Given the description of an element on the screen output the (x, y) to click on. 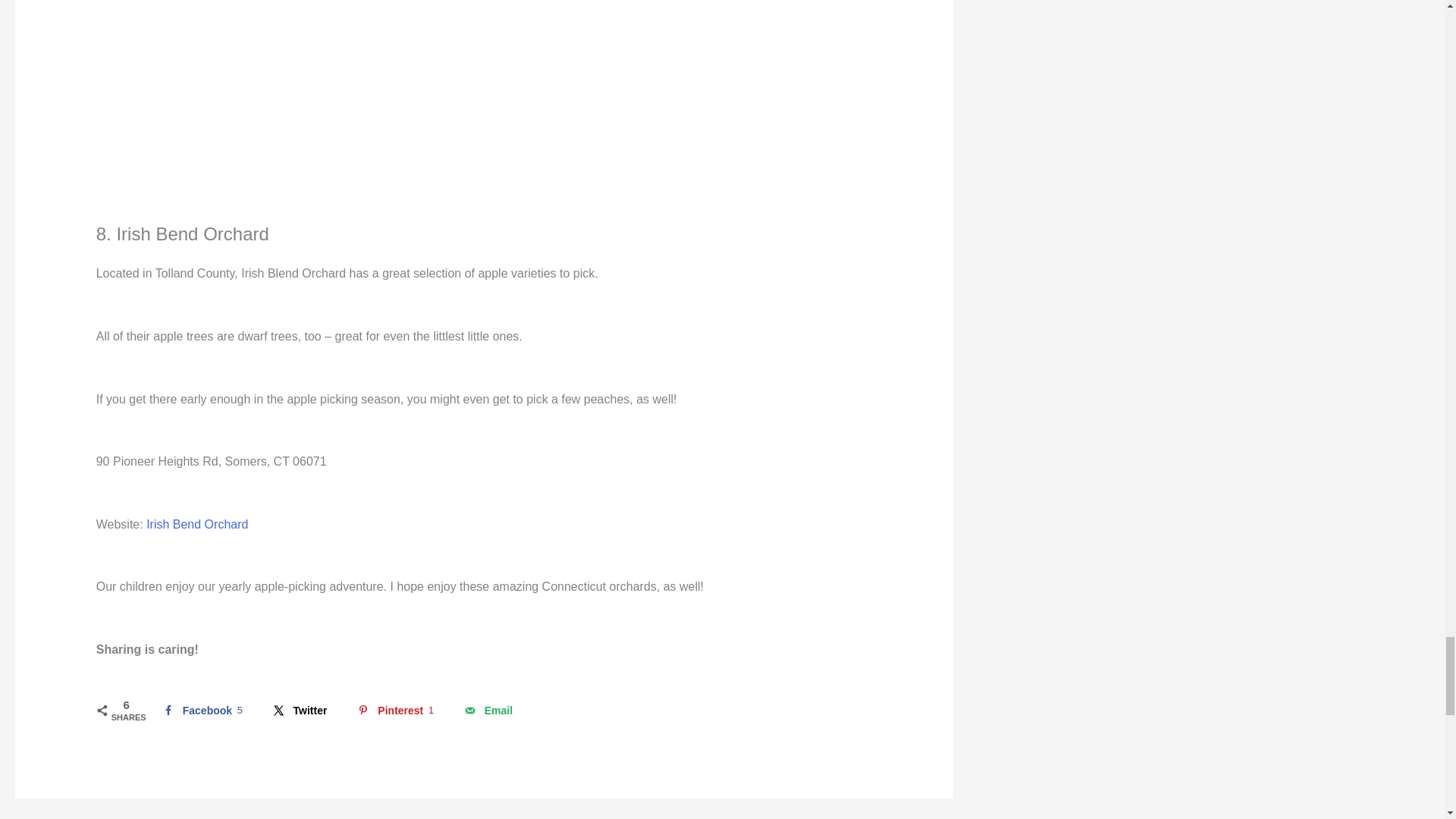
Share on Facebook (200, 710)
Save to Pinterest (393, 710)
Send over email (486, 710)
Share on X (298, 710)
